Given the description of an element on the screen output the (x, y) to click on. 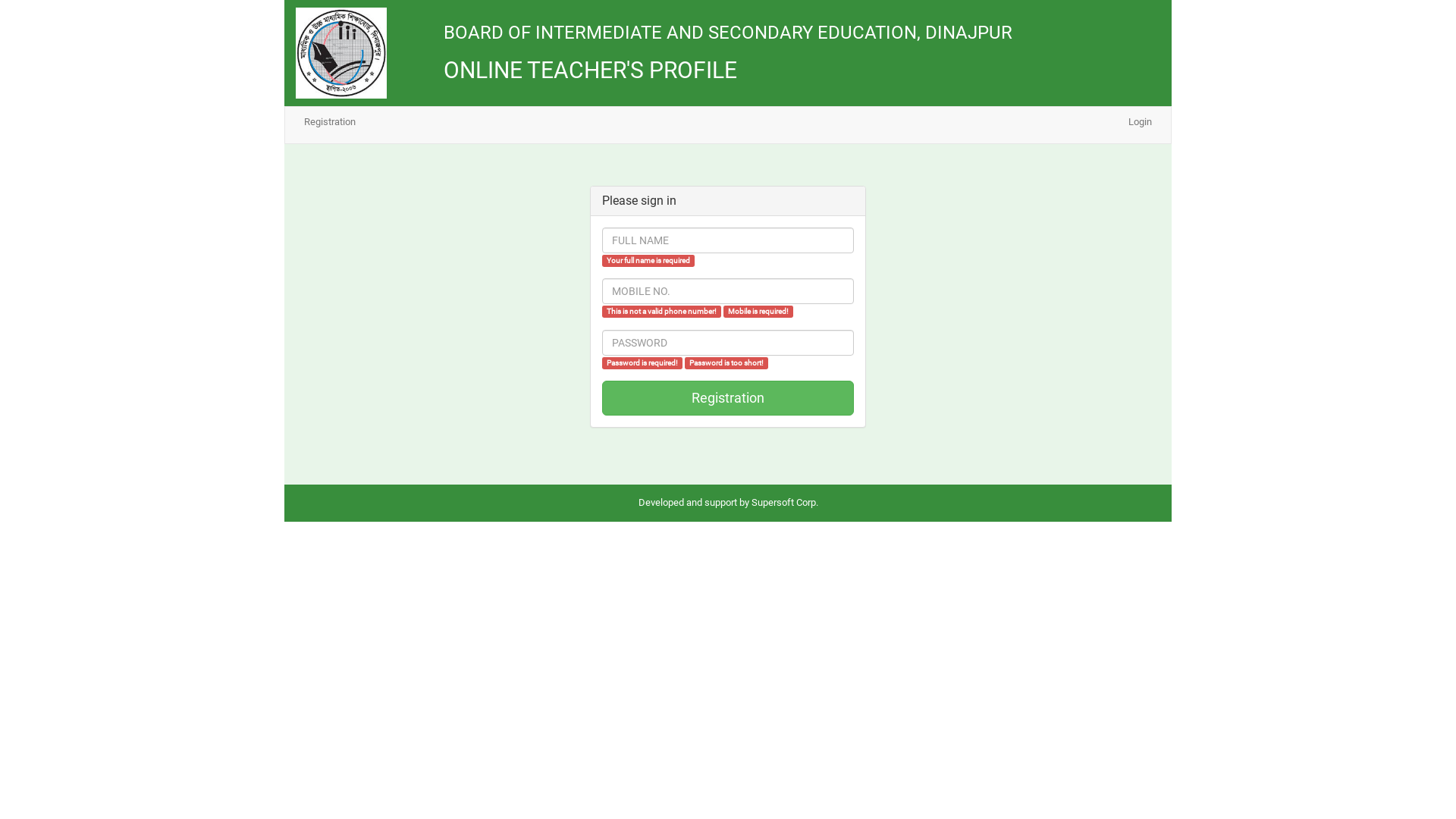
Registration Element type: text (329, 121)
Registration Element type: text (727, 397)
Login Element type: text (1139, 121)
